Given the description of an element on the screen output the (x, y) to click on. 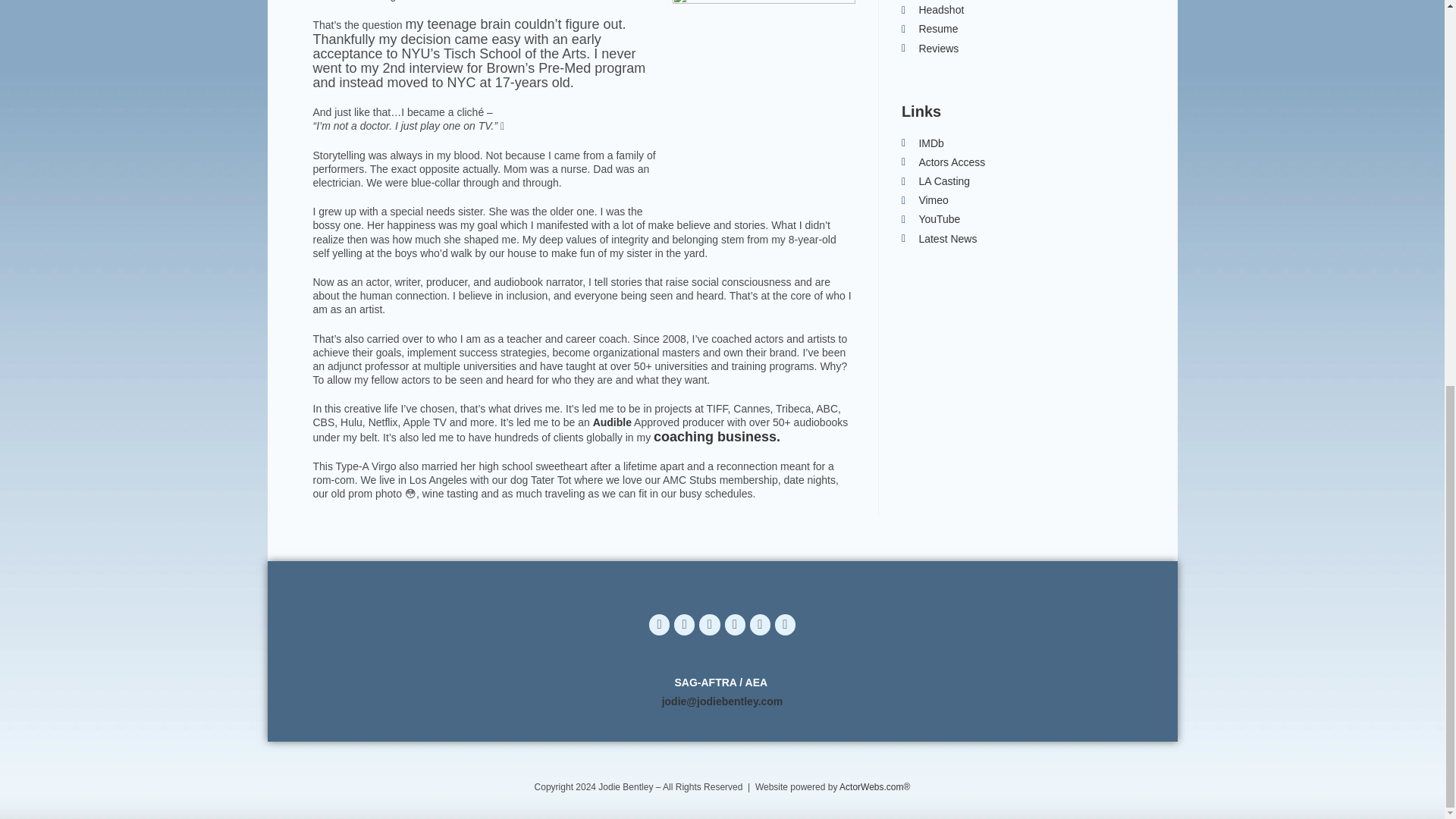
YouTube (1016, 219)
Actors Access (1016, 162)
Latest News (1016, 239)
Audible (611, 422)
coaching business. (716, 436)
Vimeo (1016, 199)
LA Casting (1016, 180)
Reviews (1016, 48)
IMDb (1016, 143)
Headshot (1016, 9)
Resume (1016, 28)
